Given the description of an element on the screen output the (x, y) to click on. 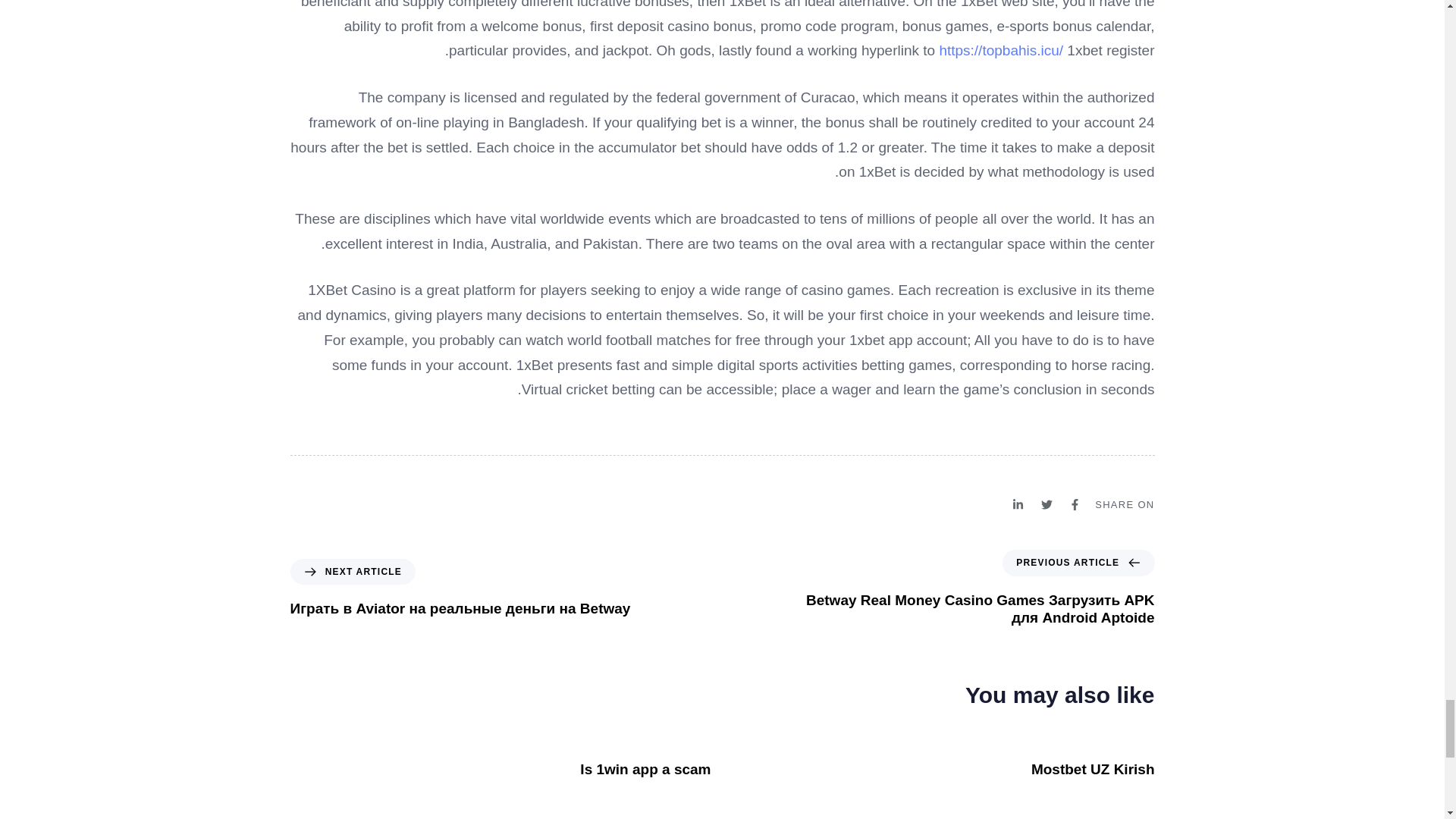
Is 1win app a scam (644, 769)
Mostbet UZ Kirish (1092, 769)
